Given the description of an element on the screen output the (x, y) to click on. 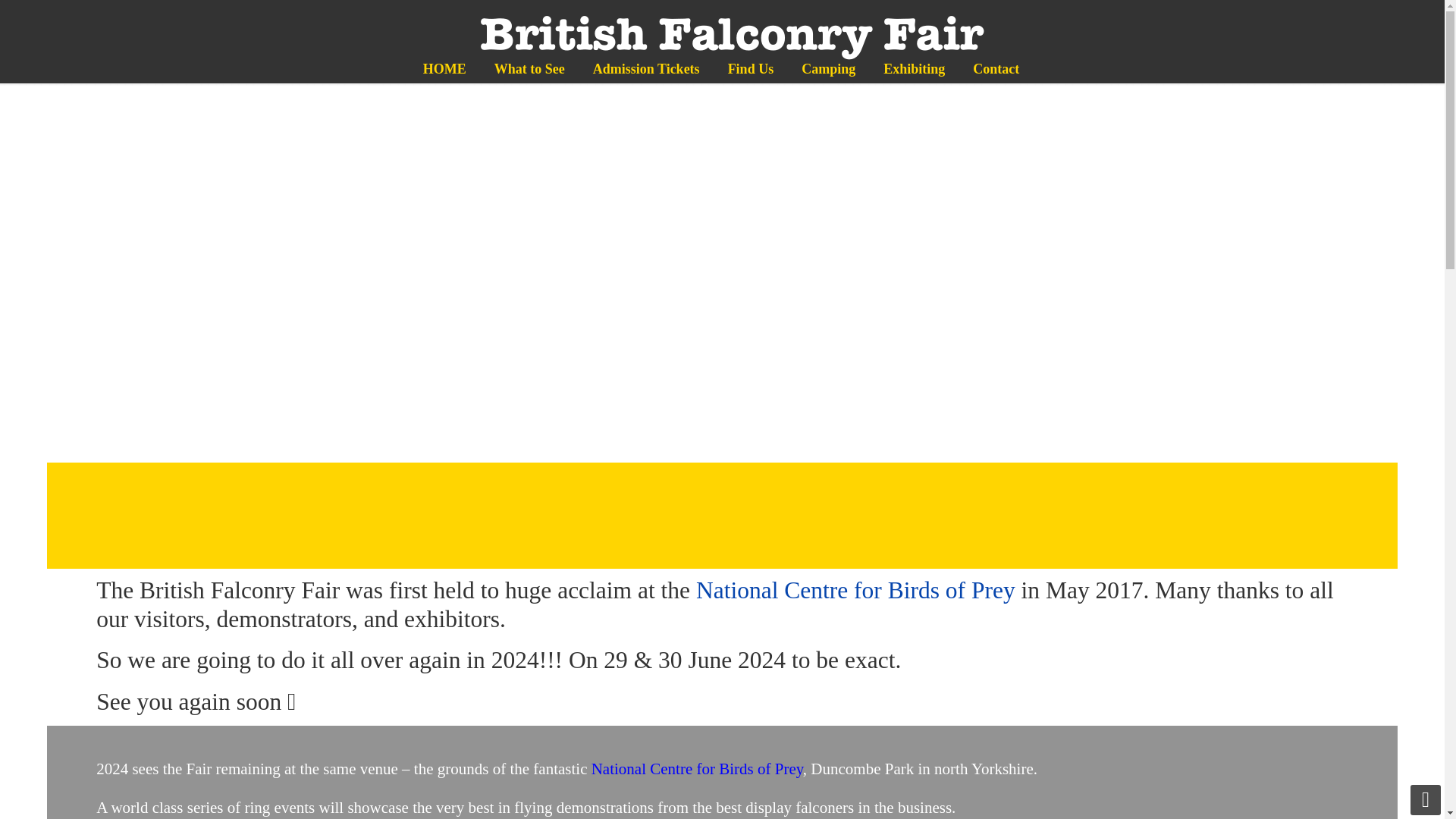
Contact (995, 69)
Find Us (751, 69)
National Centre for Birds of Prey (858, 590)
National Centre for Birds of Prey (697, 769)
What to See (529, 69)
Camping (828, 69)
Exhibiting (913, 69)
HOME (444, 69)
British Falconry Fair 2024 (720, 40)
Admission Tickets (646, 69)
